Given the description of an element on the screen output the (x, y) to click on. 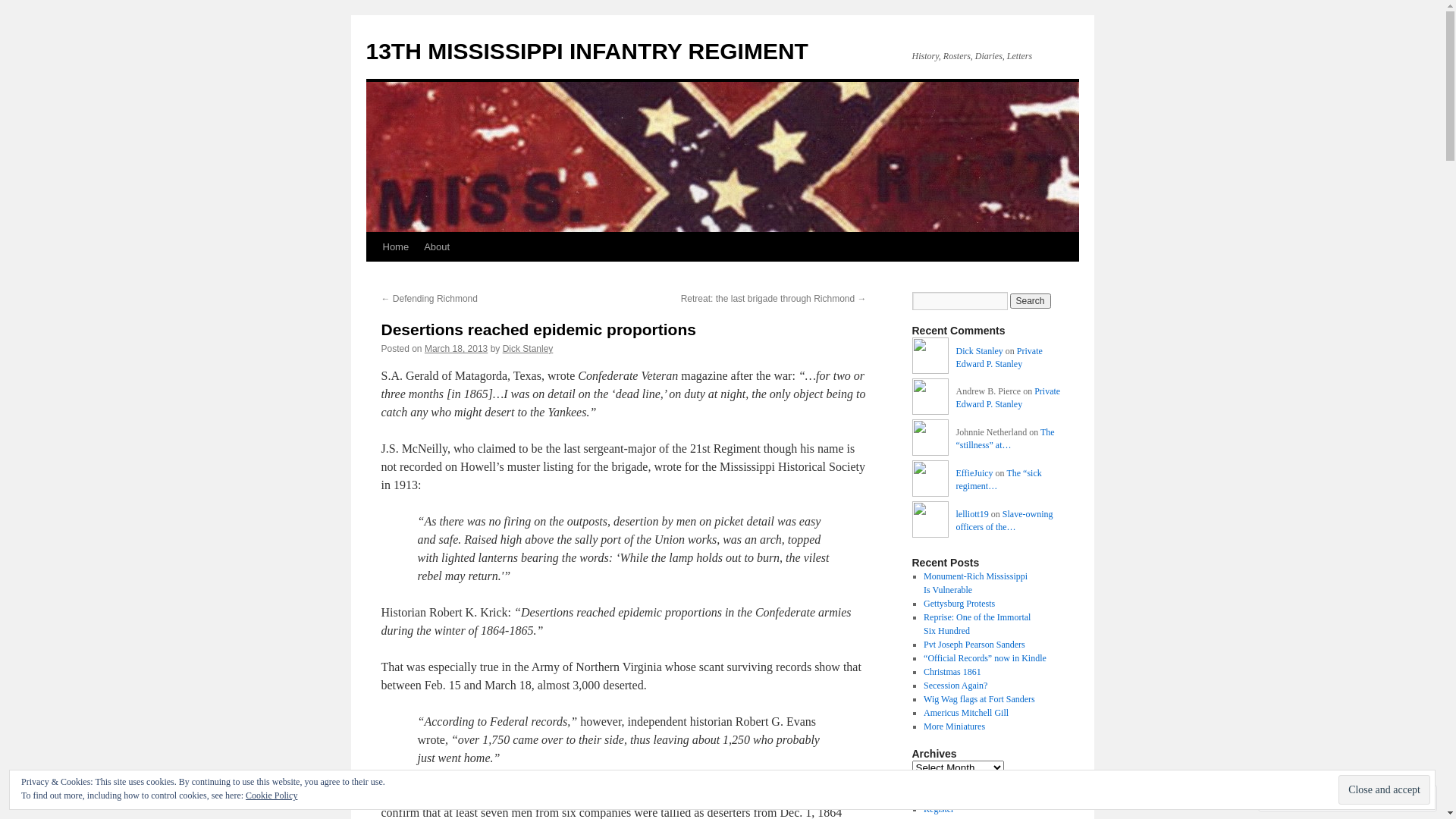
Americus Mitchell Gill Element type: text (965, 712)
EffieJuicy Element type: hover (929, 480)
lelliott19 Element type: hover (929, 521)
13TH MISSISSIPPI INFANTRY REGIMENT Element type: text (586, 50)
Close and accept Element type: text (1384, 789)
Monument-Rich Mississippi Is Vulnerable Element type: text (975, 583)
Pvt Joseph Pearson Sanders Element type: text (974, 644)
Reprise: One of the Immortal Six Hundred Element type: text (976, 623)
March 18, 2013 Element type: text (455, 348)
Cookie Policy Element type: text (271, 795)
lelliott19 Element type: text (971, 513)
Desertions reached epidemic proportions Element type: text (537, 329)
Christmas 1861 Element type: text (952, 671)
More Miniatures Element type: text (954, 726)
EffieJuicy Element type: text (973, 472)
Andrew B. Pierce Element type: hover (929, 398)
Dick Stanley Element type: hover (929, 357)
Home Element type: text (395, 246)
Private Edward P. Stanley Element type: text (1007, 397)
Comment Element type: text (1299, 797)
About Element type: text (436, 246)
Dick Stanley Element type: text (527, 348)
Gettysburg Protests Element type: text (958, 603)
Secession Again? Element type: text (955, 685)
Wig Wag flags at Fort Sanders Element type: text (979, 698)
Johnnie Netherland Element type: hover (929, 439)
Follow Element type: text (1374, 797)
Private Edward P. Stanley Element type: text (998, 357)
Search Element type: text (1030, 300)
Register Element type: text (938, 808)
Dick Stanley Element type: text (978, 350)
